Given the description of an element on the screen output the (x, y) to click on. 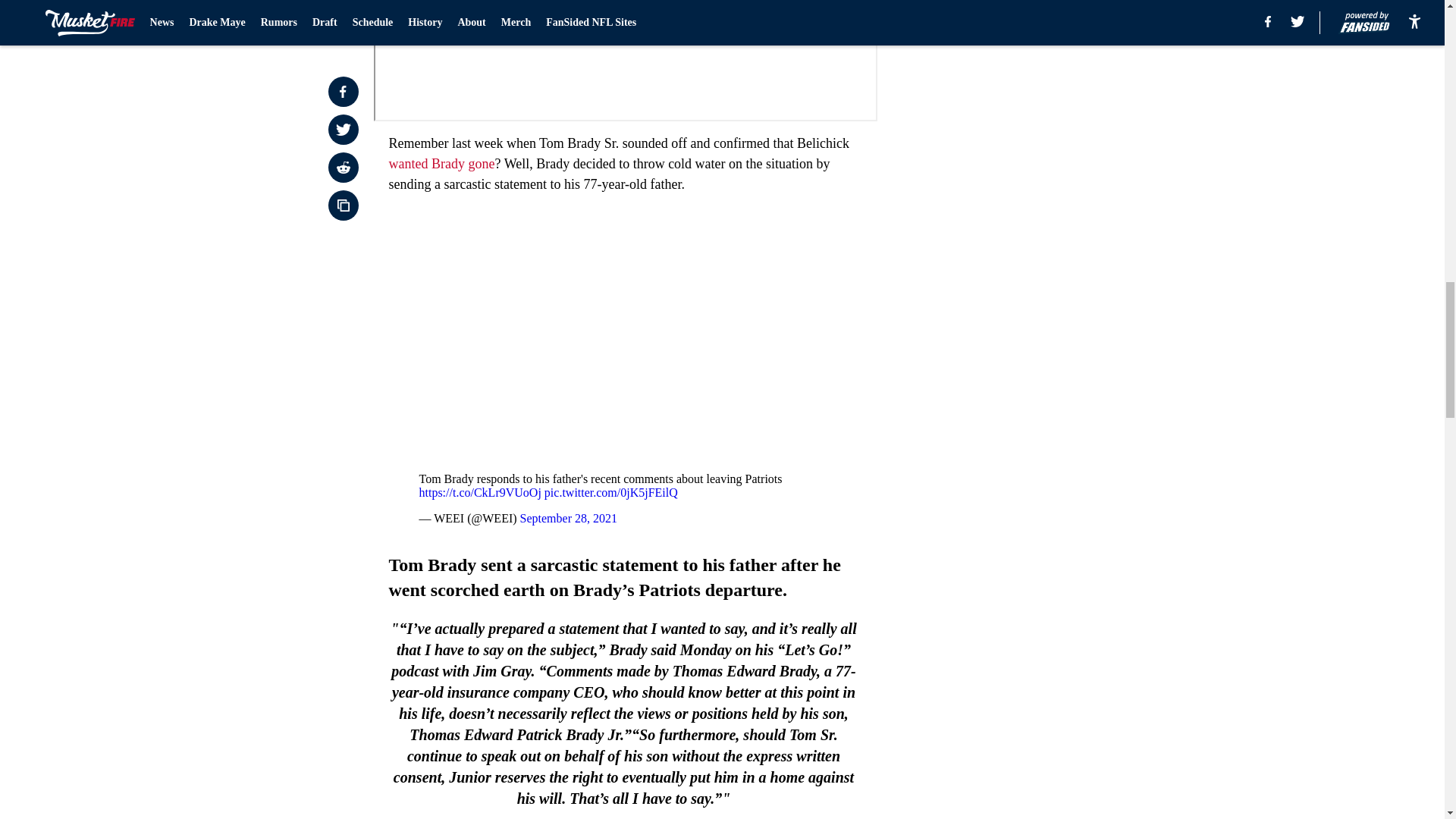
wanted Brady gone (441, 163)
September 28, 2021 (568, 517)
